Given the description of an element on the screen output the (x, y) to click on. 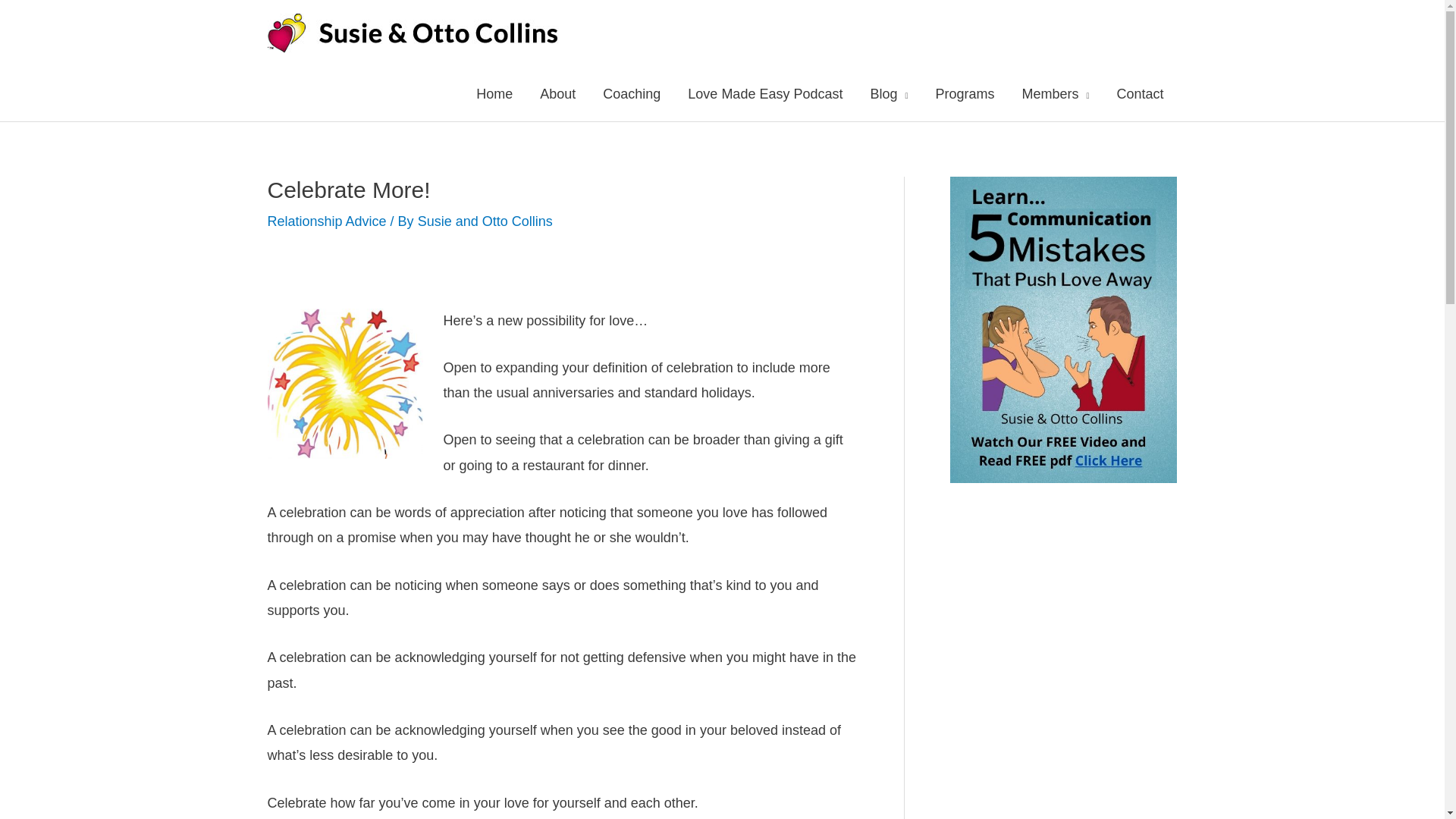
Coaching (631, 93)
Love Made Easy Podcast (765, 93)
Members (1054, 93)
Blog (888, 93)
View all posts by Susie and Otto Collins (485, 221)
Relationship Advice (325, 221)
Susie and Otto Collins (485, 221)
Programs (964, 93)
About (557, 93)
Home (494, 93)
Contact (1139, 93)
